Given the description of an element on the screen output the (x, y) to click on. 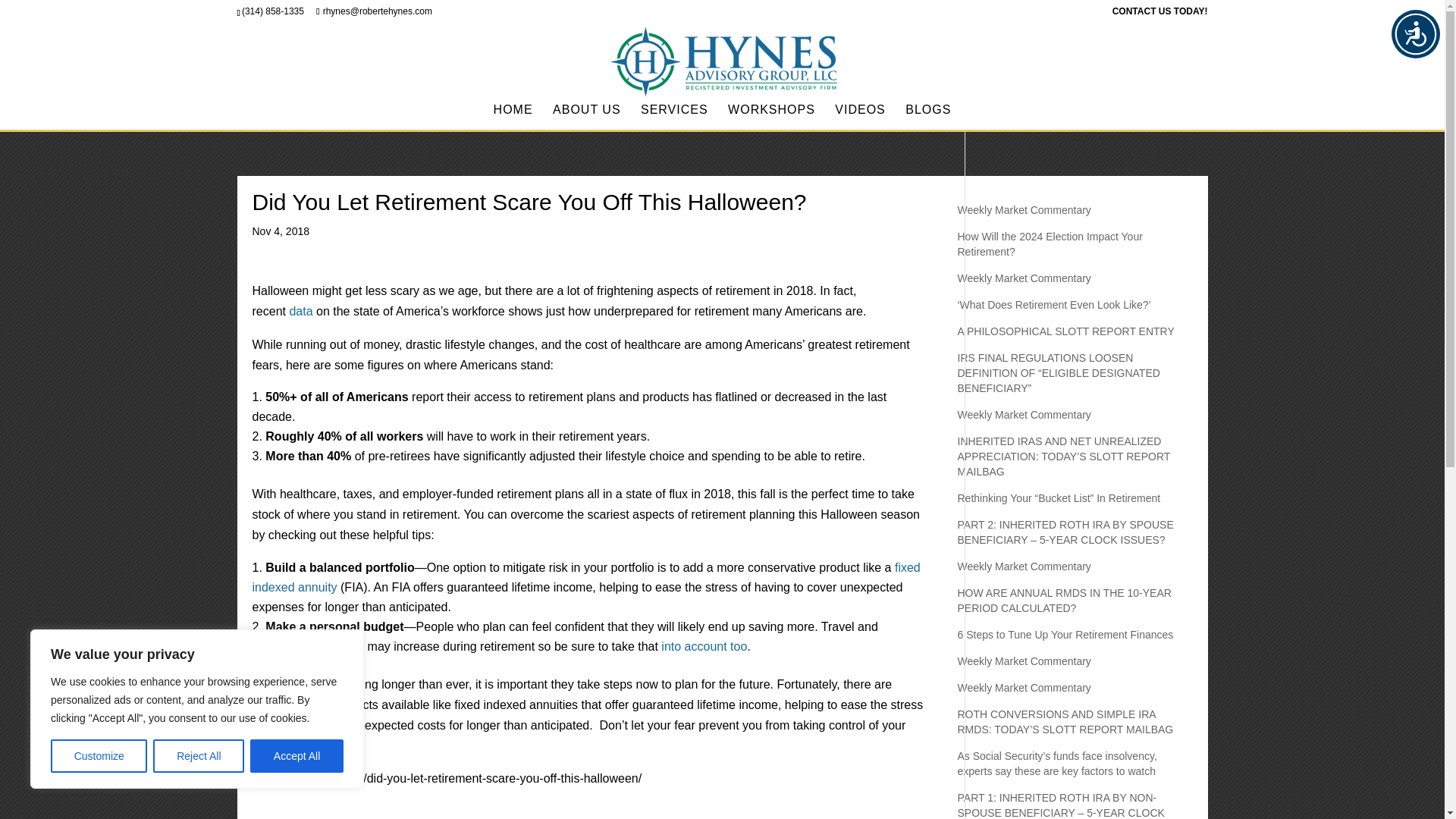
into account too (703, 645)
SERVICES (673, 116)
Accessibility Menu (1415, 33)
A PHILOSOPHICAL SLOTT REPORT ENTRY (1064, 331)
BLOGS (927, 116)
data (300, 310)
Weekly Market Commentary (1023, 414)
ABOUT US (587, 116)
VIDEOS (859, 116)
Reject All (198, 756)
